Given the description of an element on the screen output the (x, y) to click on. 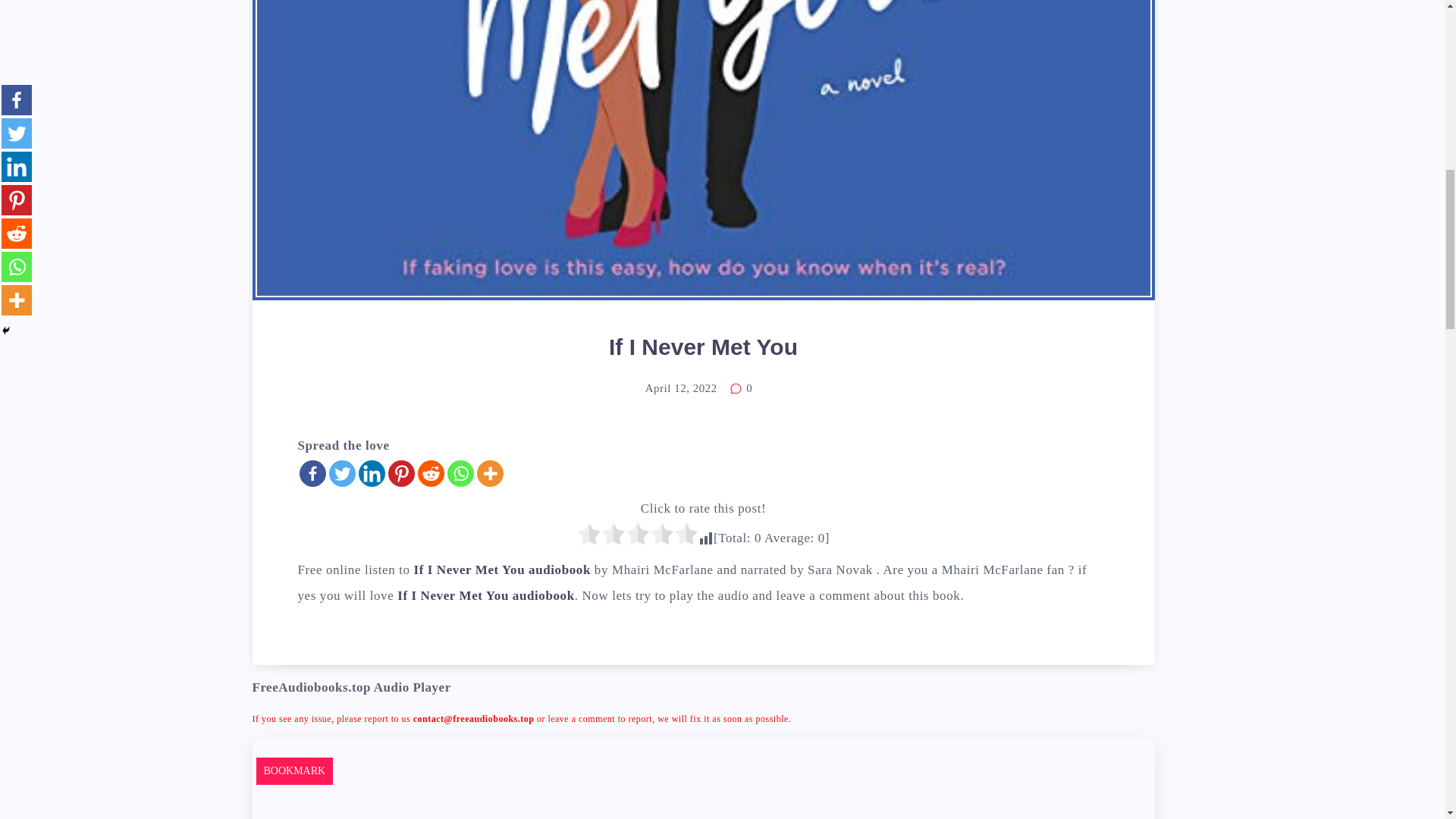
Pinterest (401, 473)
BOOKMARK (294, 770)
More (489, 473)
Linkedin (371, 473)
Twitter (342, 473)
0 Comments (740, 387)
0 (740, 387)
Facebook (311, 473)
Reddit (430, 473)
Whatsapp (460, 473)
